Given the description of an element on the screen output the (x, y) to click on. 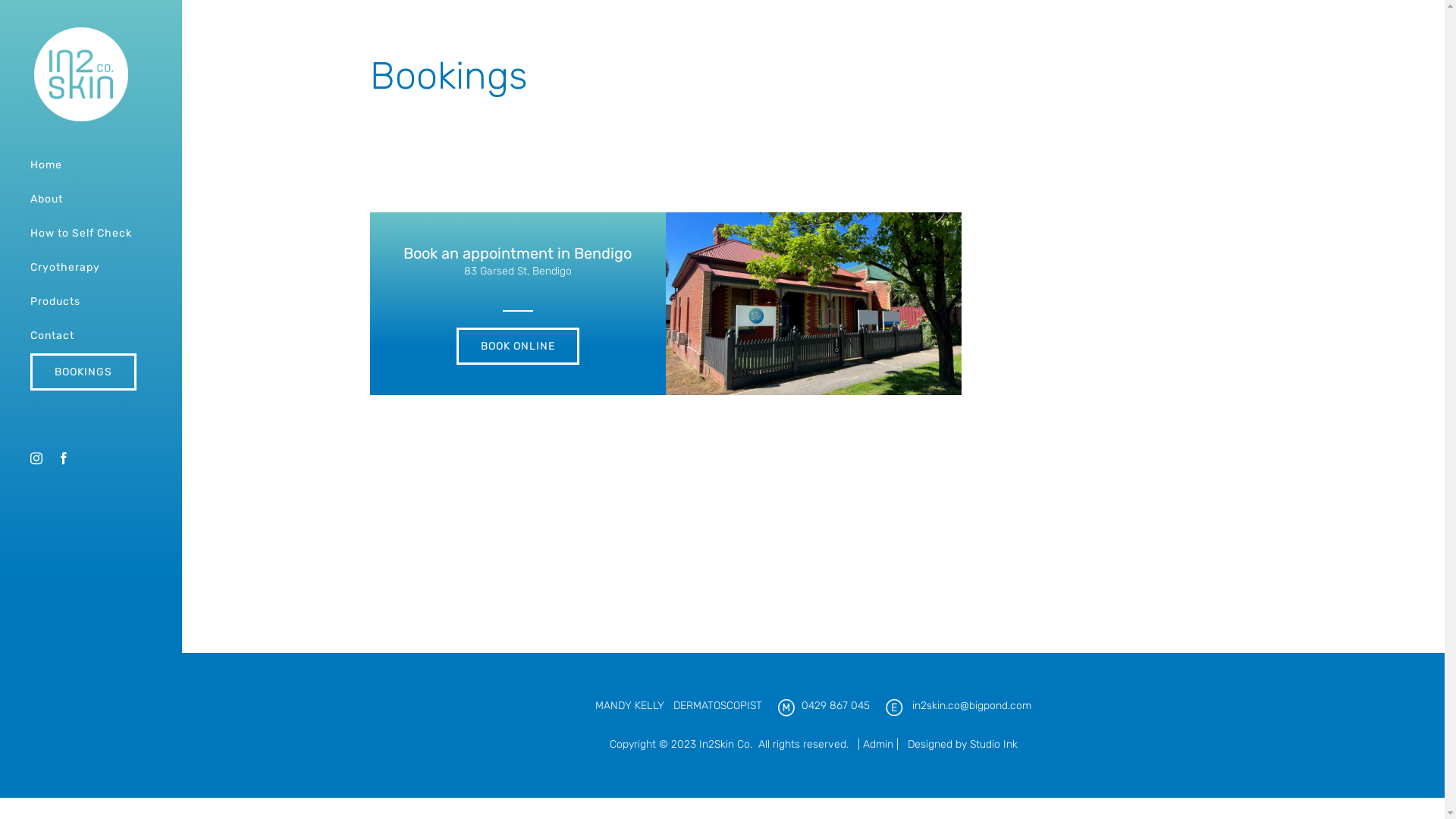
About Element type: text (90, 199)
Facebook Element type: text (63, 457)
BOOK ONLINE Element type: text (517, 345)
Instagram Element type: text (36, 457)
Cryotherapy Element type: text (90, 268)
Studio Ink Element type: text (992, 743)
How to Self Check Element type: text (90, 233)
Admin Element type: text (877, 743)
Contact Element type: text (90, 336)
Products Element type: text (90, 302)
in2skin.co@bigpond.com Element type: text (971, 705)
BOOKINGS Element type: text (90, 372)
Home Element type: text (90, 164)
